Given the description of an element on the screen output the (x, y) to click on. 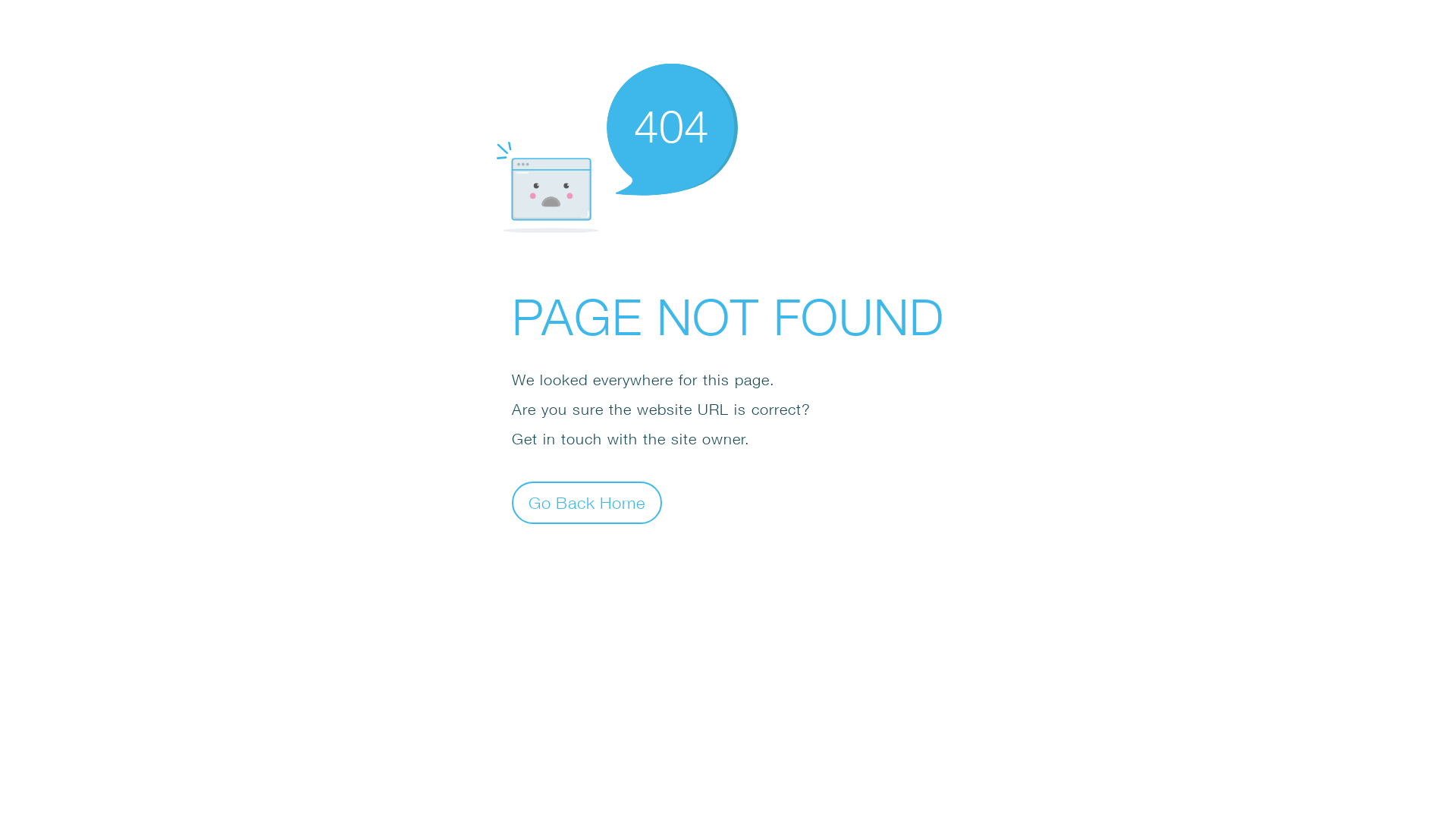
Go Back Home Element type: text (586, 502)
